Given the description of an element on the screen output the (x, y) to click on. 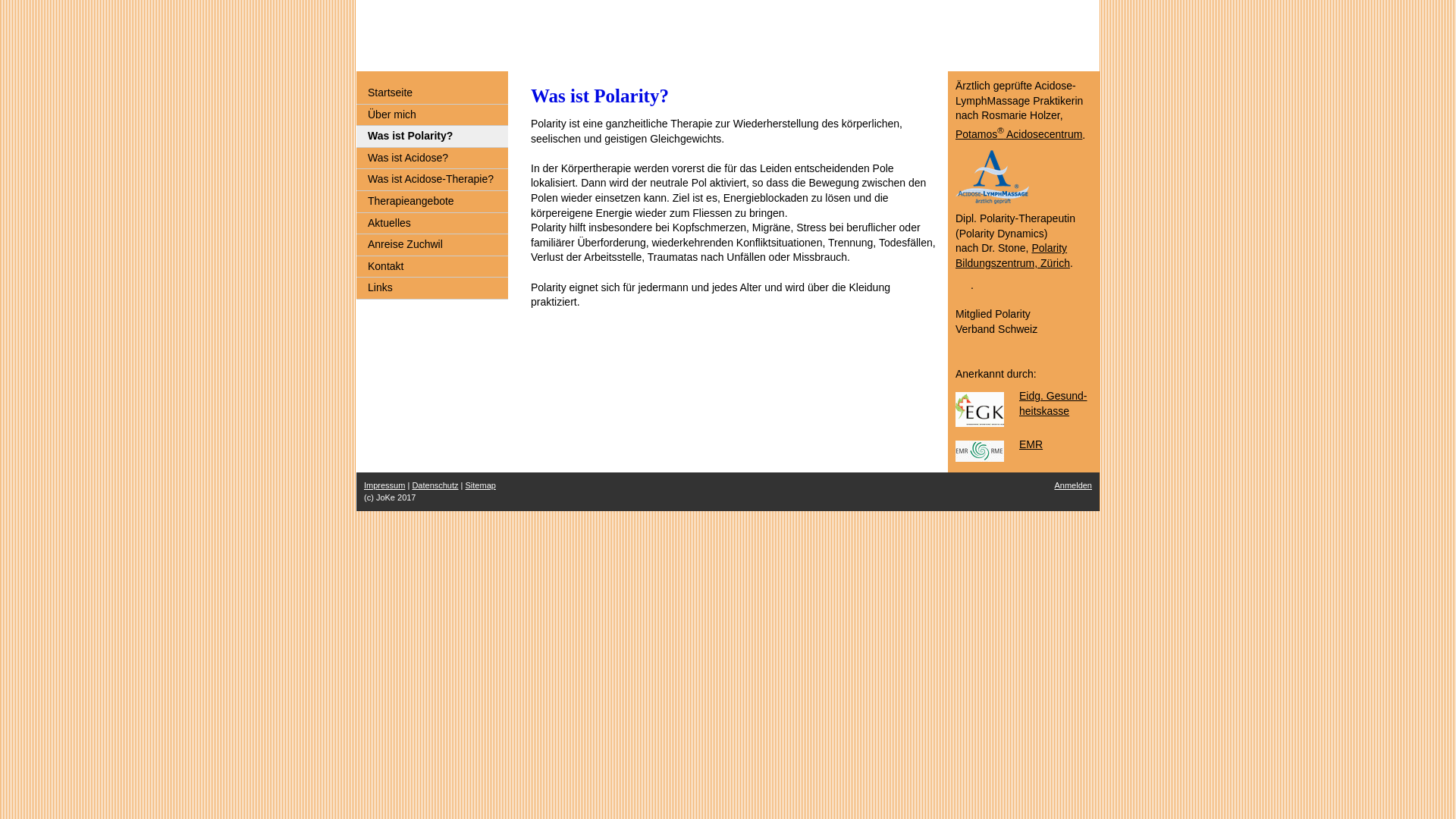
Links Element type: text (432, 288)
Was ist Acidose-Therapie? Element type: text (432, 180)
Was ist Acidose? Element type: text (432, 158)
EMR Element type: text (1030, 444)
Sitemap Element type: text (480, 484)
Aktuelles Element type: text (432, 224)
Anmelden Element type: text (1073, 484)
Kontakt Element type: text (432, 267)
Was ist Polarity? Element type: text (432, 136)
heitskasse Element type: text (1044, 410)
Anreise Zuchwil Element type: text (432, 245)
Eidg. Gesund- Element type: text (1053, 395)
Impressum Element type: text (384, 484)
Therapieangebote Element type: text (432, 202)
Startseite Element type: text (432, 93)
Datenschutz Element type: text (434, 484)
